Given the description of an element on the screen output the (x, y) to click on. 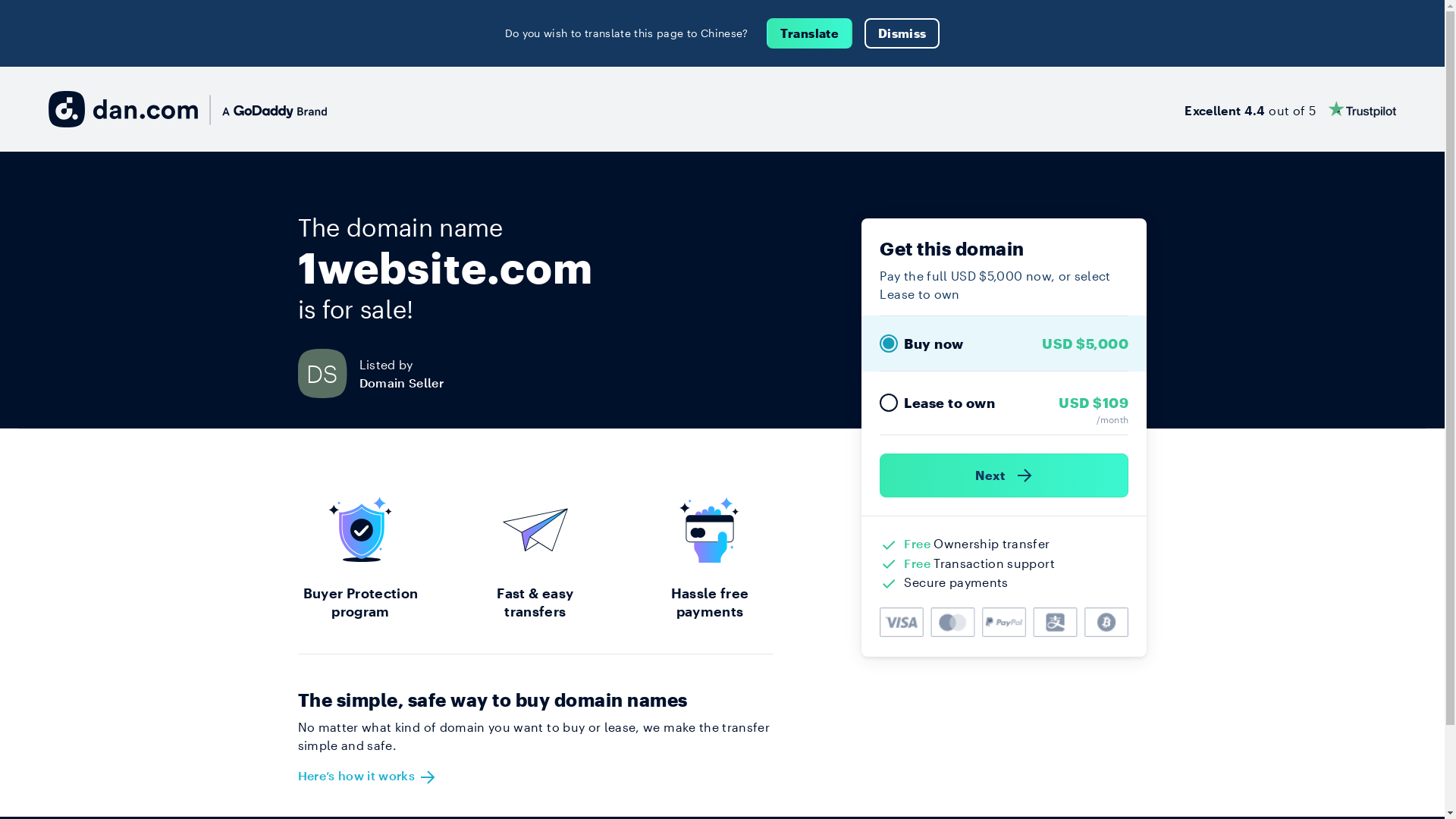
Next
) Element type: text (1003, 475)
Translate Element type: text (809, 33)
Excellent 4.4 out of 5 Element type: text (1290, 109)
Dismiss Element type: text (901, 33)
